Given the description of an element on the screen output the (x, y) to click on. 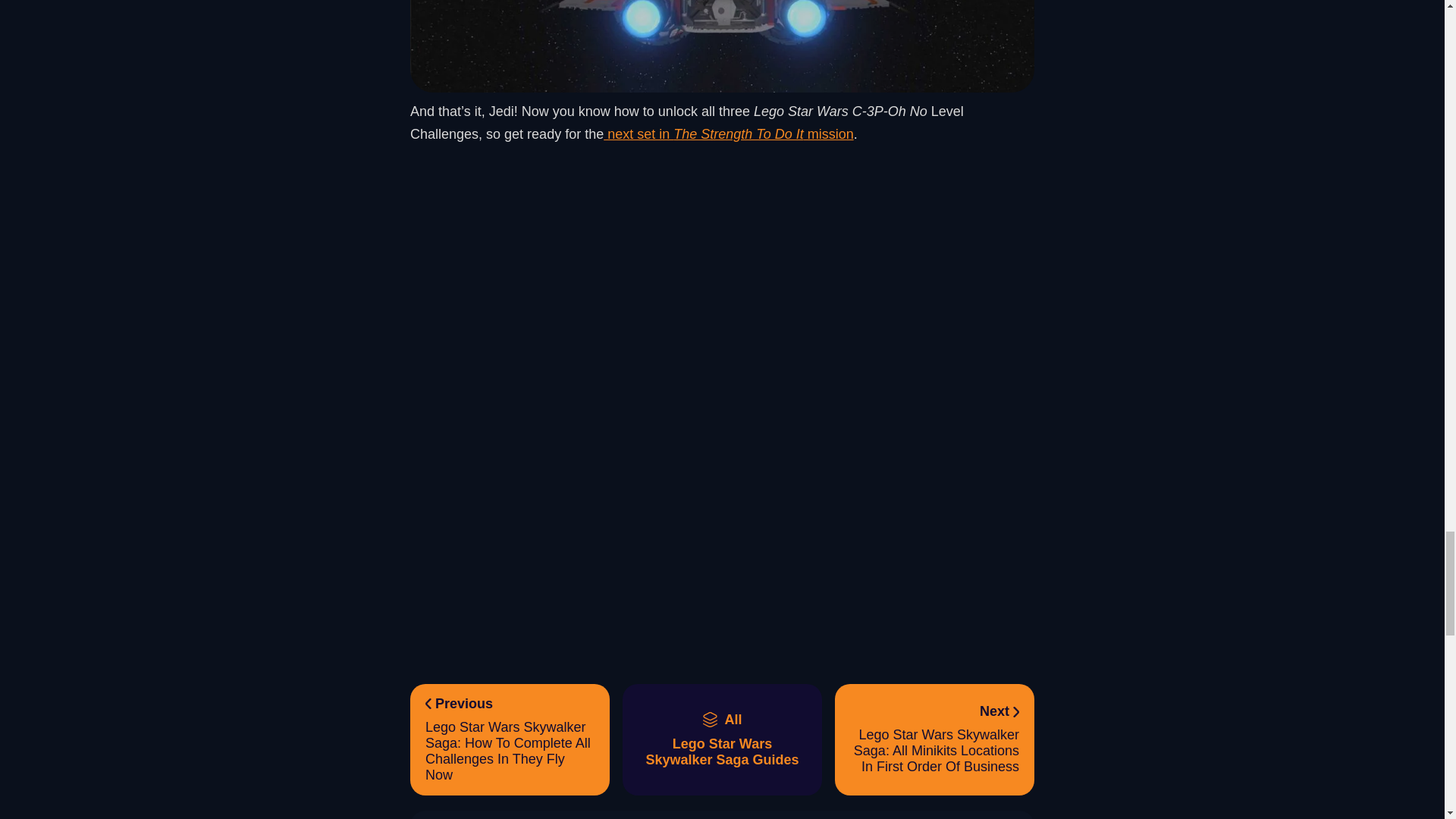
next set in The Strength To Do It mission (728, 133)
